Given the description of an element on the screen output the (x, y) to click on. 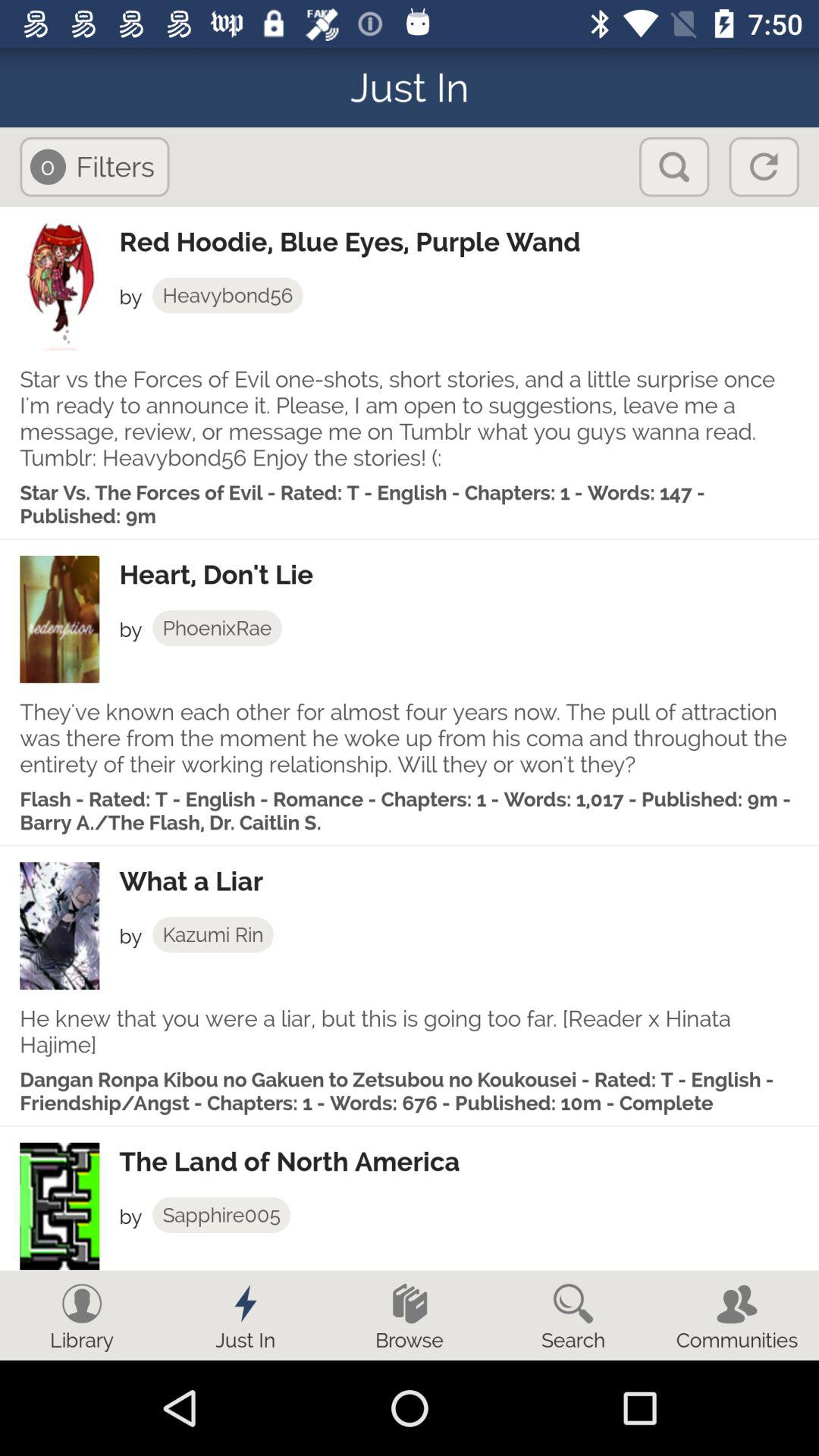
turn on dangan ronpa kibou app (409, 1091)
